Given the description of an element on the screen output the (x, y) to click on. 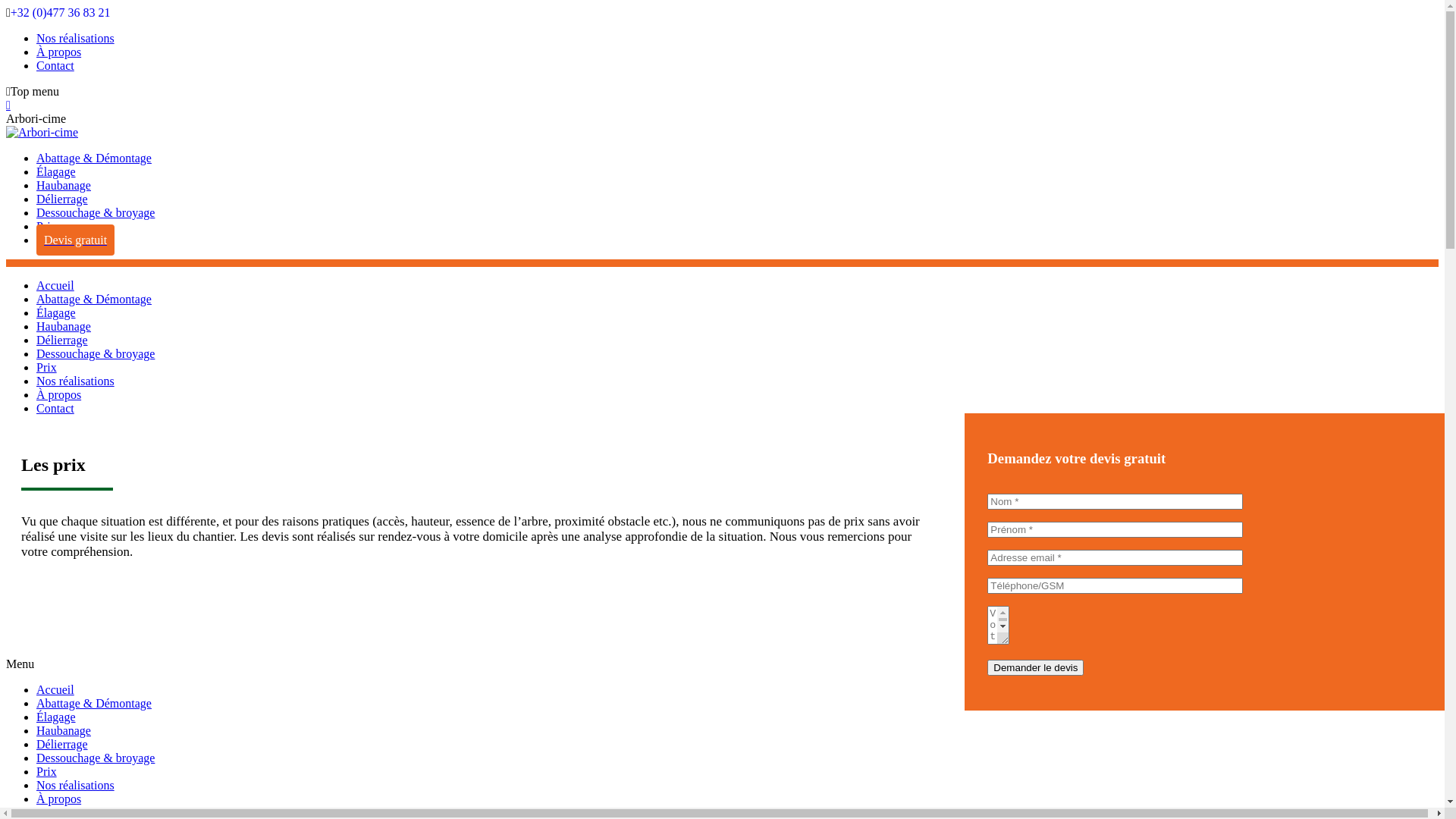
Dessouchage & broyage Element type: text (95, 757)
Haubanage Element type: text (63, 730)
Prix Element type: text (46, 225)
Contact Element type: text (55, 65)
Contenu en pleine largeur Element type: text (5, 5)
Prix Element type: text (46, 366)
Facebook page opens in new window Element type: text (8, 104)
Accueil Element type: text (55, 285)
Dessouchage & broyage Element type: text (95, 212)
+32 (0)477 36 83 21 Element type: text (60, 12)
Contact Element type: text (55, 407)
Demander le devis Element type: text (1035, 667)
Haubanage Element type: text (63, 326)
Prix Element type: text (46, 771)
Dessouchage & broyage Element type: text (95, 353)
Devis gratuit Element type: text (75, 239)
Accueil Element type: text (55, 689)
Haubanage Element type: text (63, 184)
